Given the description of an element on the screen output the (x, y) to click on. 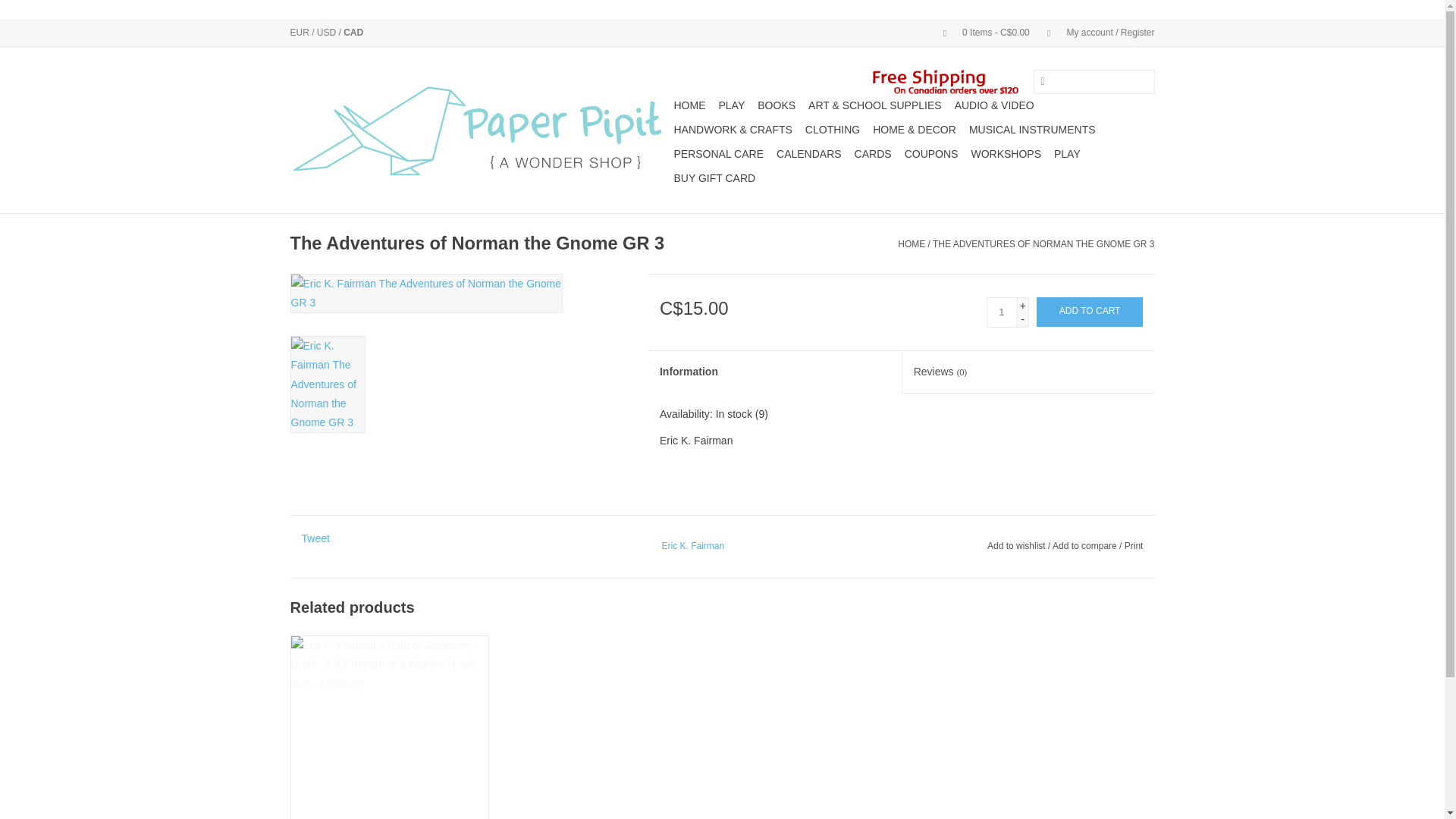
BOOKS (775, 105)
1 (1001, 312)
USD (328, 32)
EUR (300, 32)
PLAY (731, 105)
Paper Pipit (478, 129)
HOME (689, 105)
CAD (352, 32)
 Play (731, 105)
Cart (980, 32)
